Given the description of an element on the screen output the (x, y) to click on. 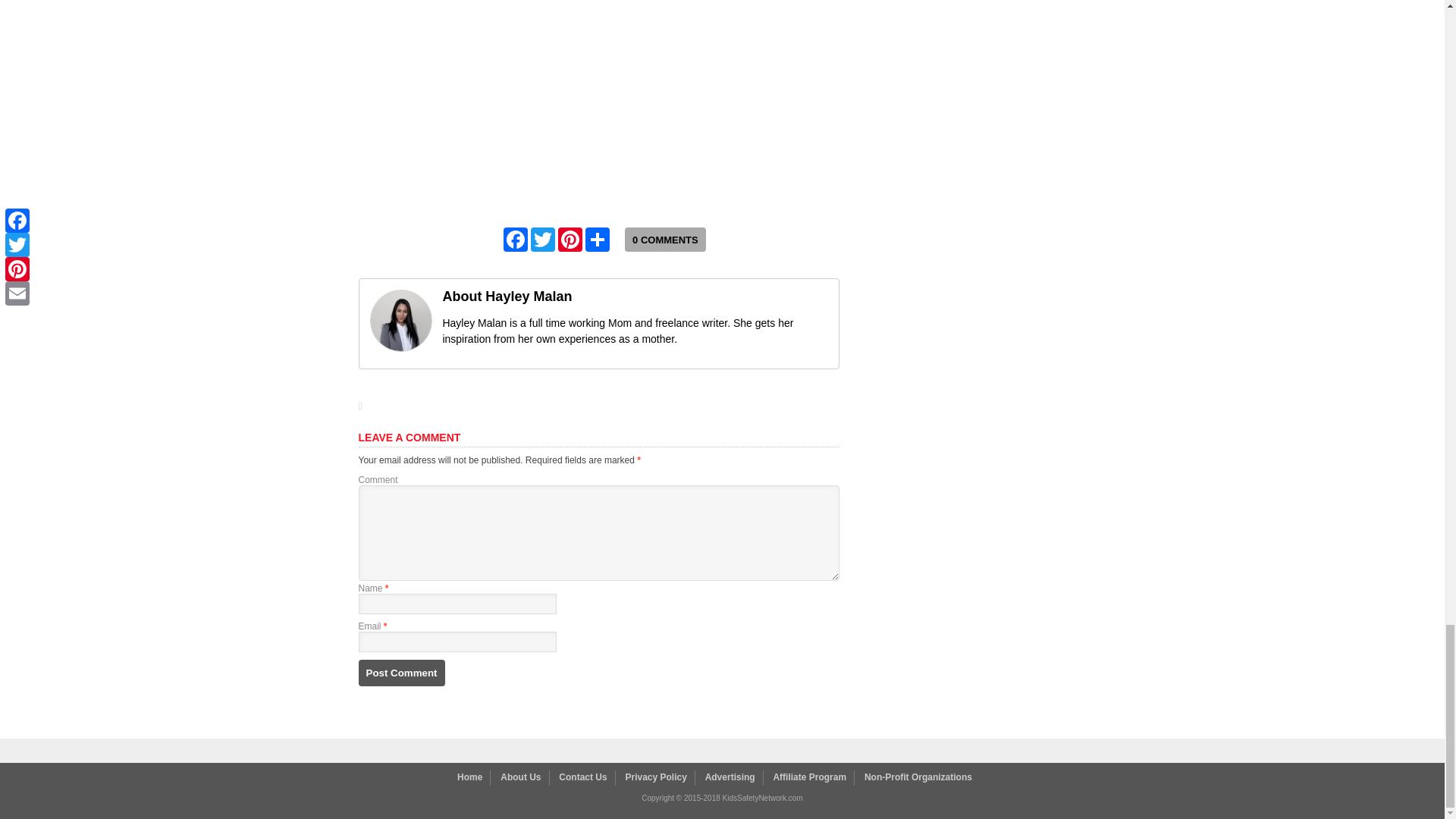
Post Comment (401, 673)
